Given the description of an element on the screen output the (x, y) to click on. 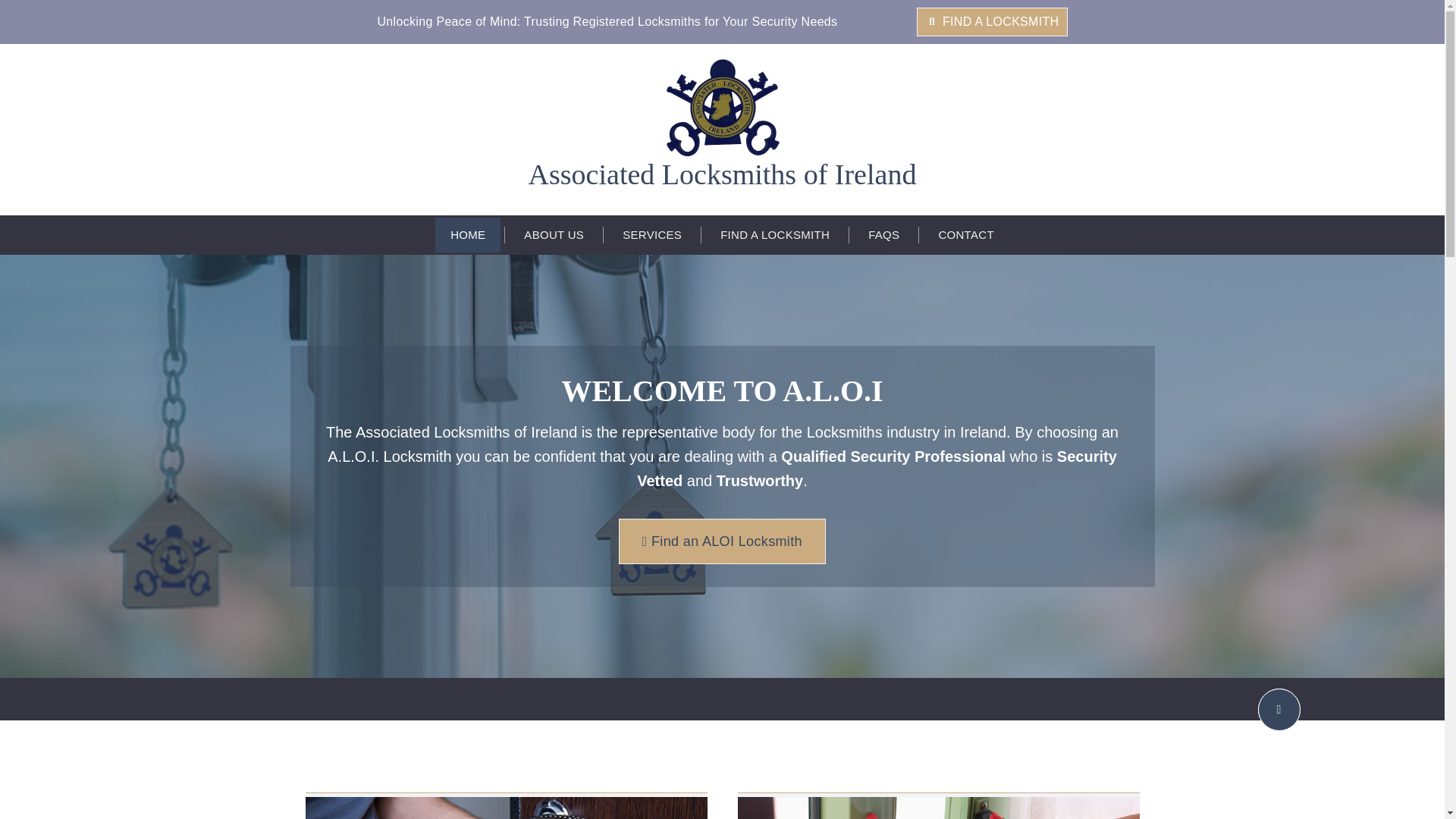
Associated Locksmiths of Ireland-ALOI (721, 107)
ABOUT US (553, 234)
SERVICES (652, 234)
HOME (467, 234)
FIND A LOCKSMITH (991, 21)
